Given the description of an element on the screen output the (x, y) to click on. 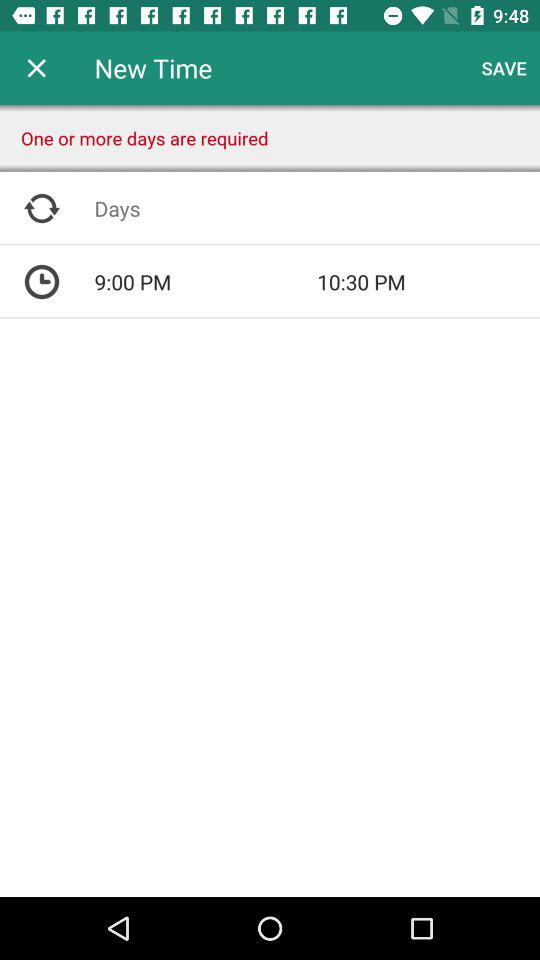
enter days (317, 208)
